Given the description of an element on the screen output the (x, y) to click on. 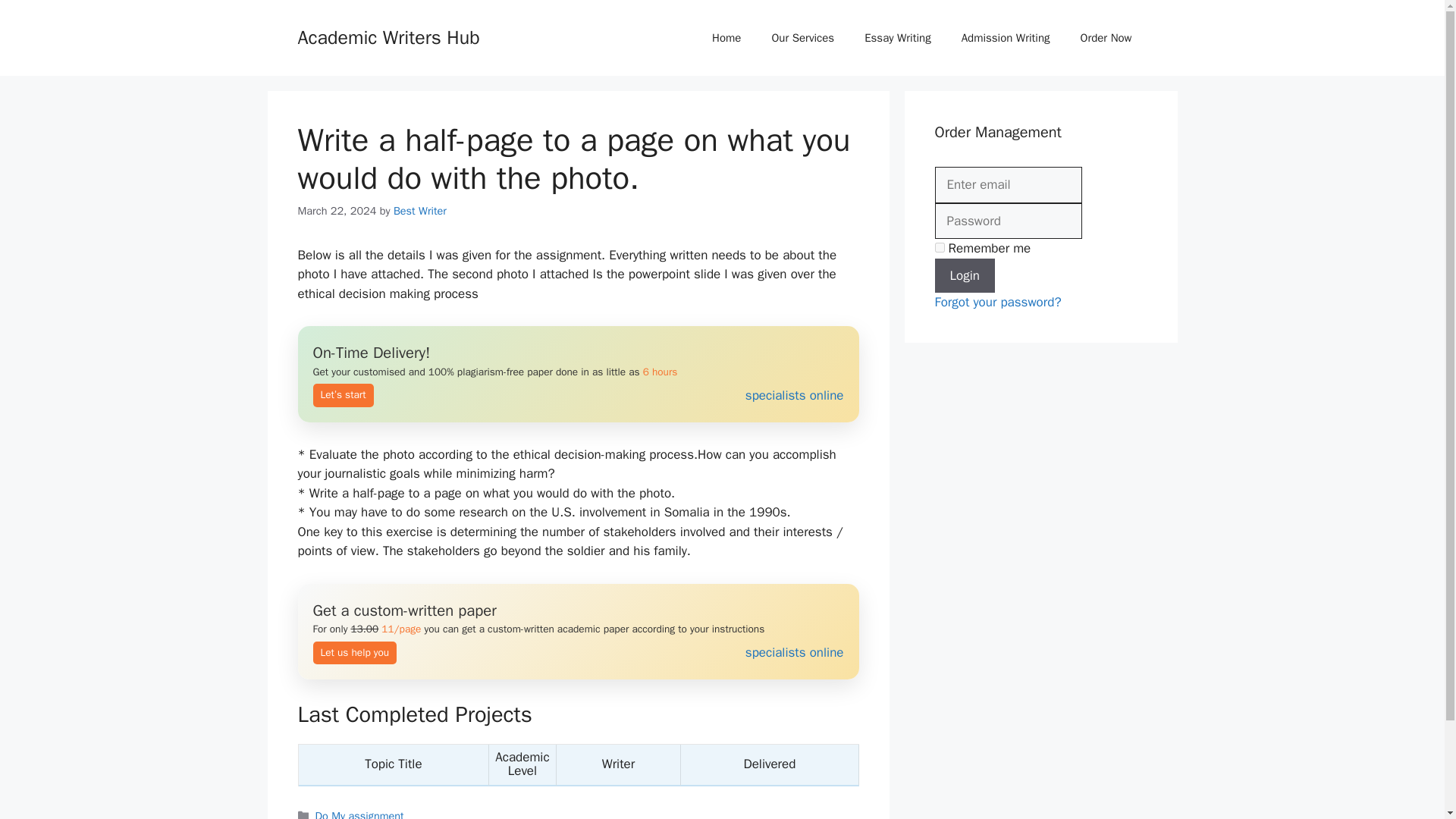
Order Now (1105, 37)
Forgot your password? (997, 302)
on (938, 247)
Admission Writing (1005, 37)
Let us help you (578, 631)
Our Services (801, 37)
Login (964, 274)
Best Writer (419, 210)
View all posts by Best Writer (419, 210)
Home (726, 37)
